Given the description of an element on the screen output the (x, y) to click on. 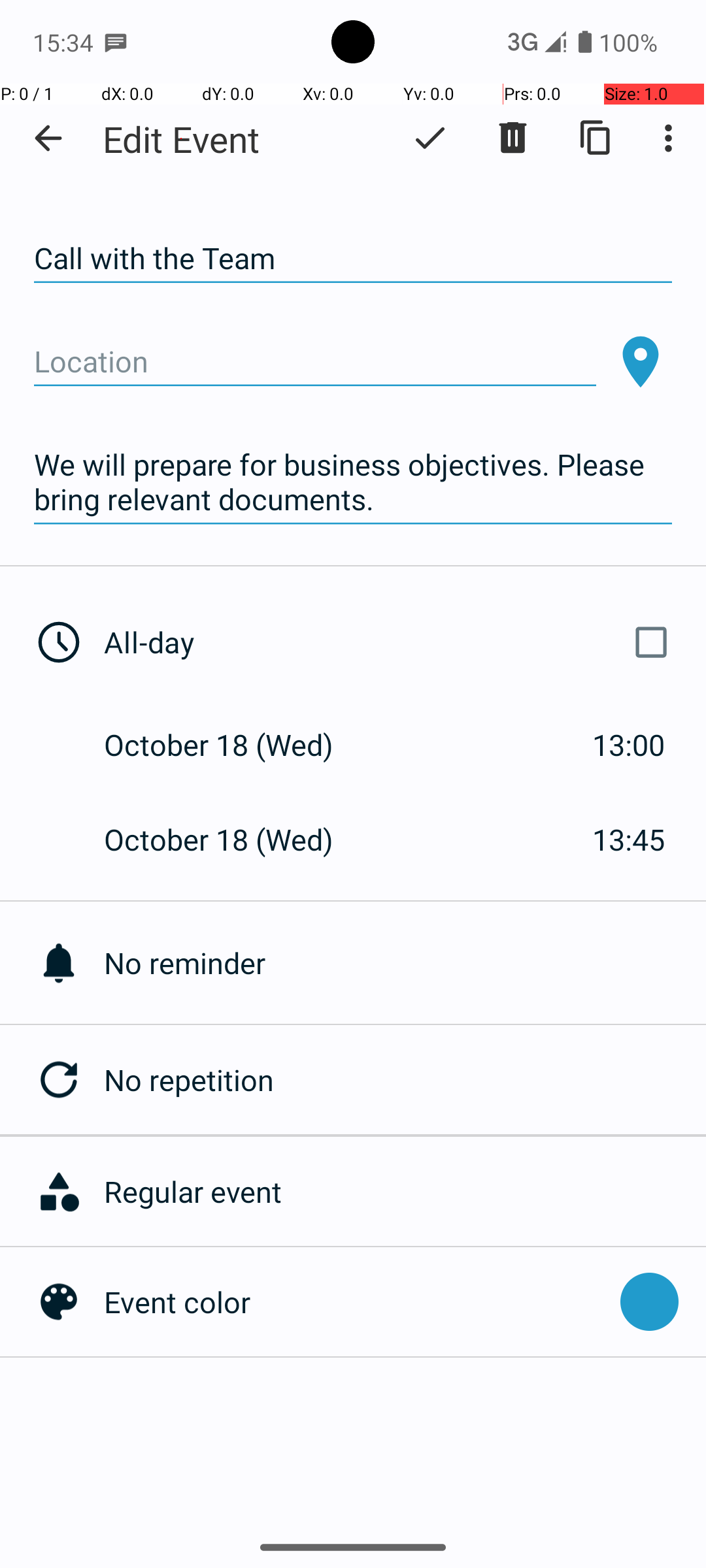
Call with the Team Element type: android.widget.EditText (352, 258)
We will prepare for business objectives. Please bring relevant documents. Element type: android.widget.EditText (352, 482)
October 18 (Wed) Element type: android.widget.TextView (232, 744)
13:00 Element type: android.widget.TextView (628, 744)
13:45 Element type: android.widget.TextView (628, 838)
